Given the description of an element on the screen output the (x, y) to click on. 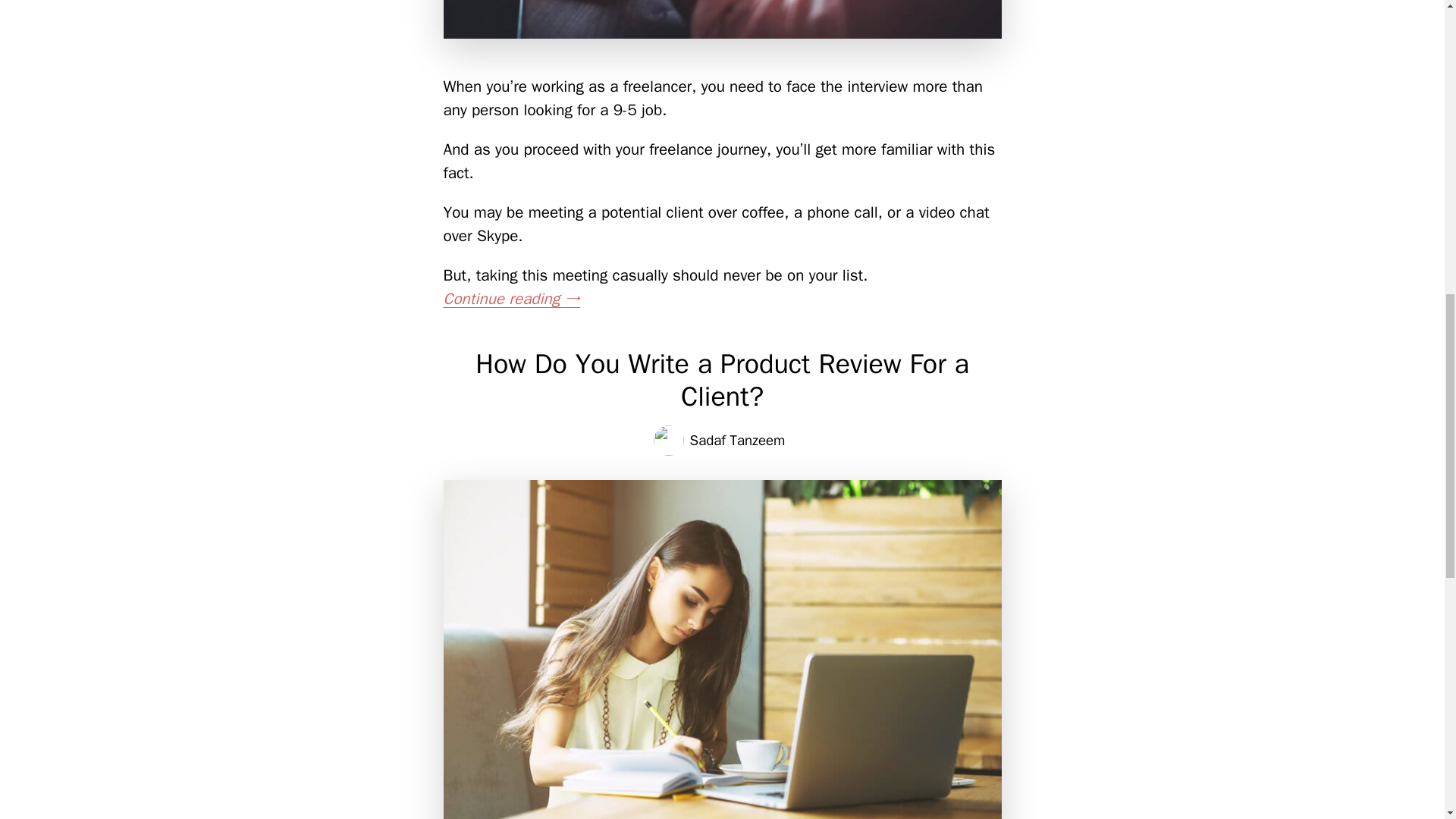
Sadaf Tanzeem (738, 440)
How Do You Write a Product Review For a Client? (722, 380)
